Given the description of an element on the screen output the (x, y) to click on. 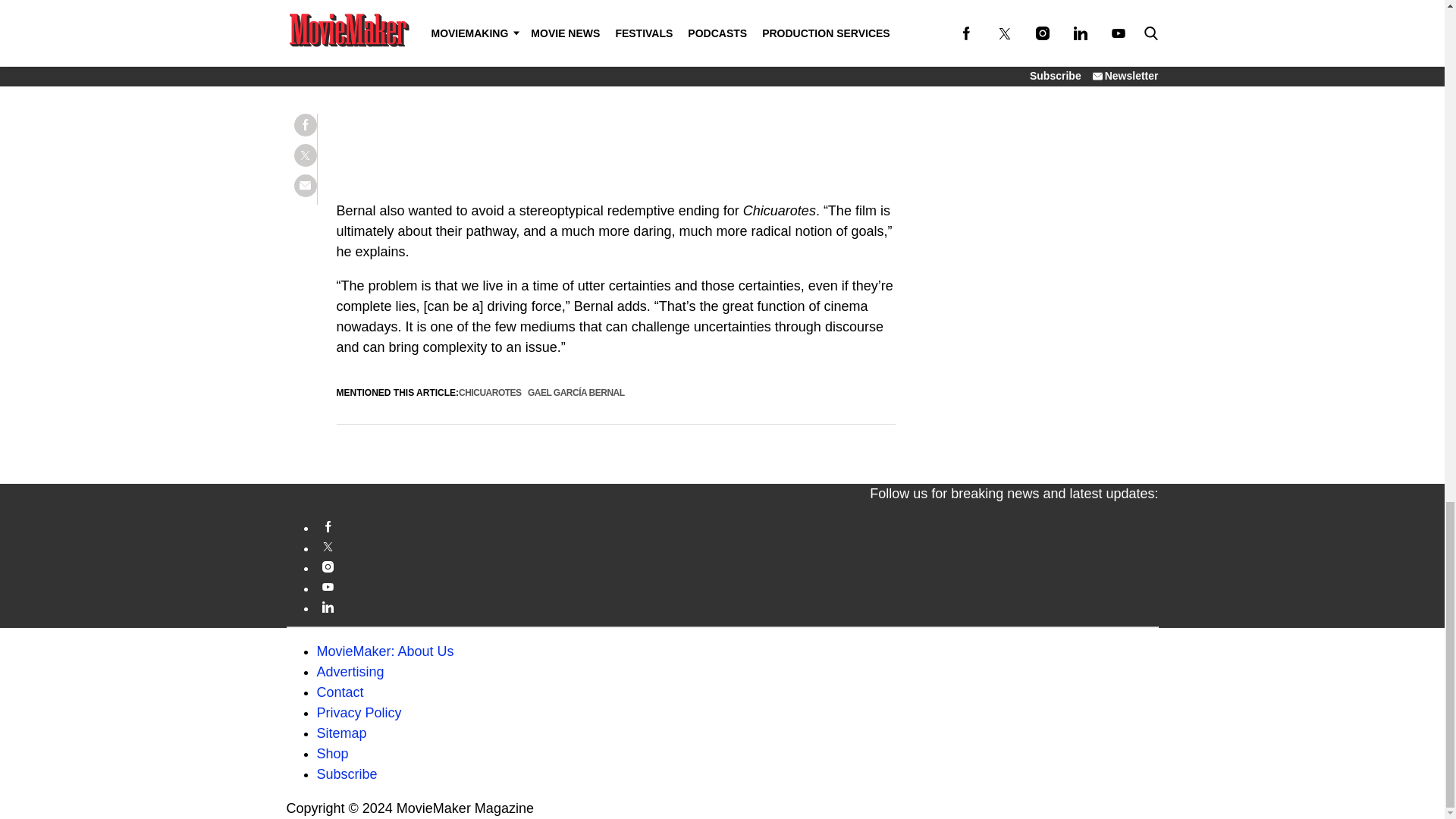
CHICUAROTES (489, 392)
Advertising (350, 671)
MovieMaker Magazine Shop (333, 753)
Subscribe to our YouTube channel (737, 586)
Follow us on Twitter (737, 546)
MovieMaker: About Us (385, 651)
Connect with us on LinkedIn (737, 606)
Follow us on Instagram (737, 566)
MovieMaker Magazine Privacy Policy (359, 712)
Follow us on Facebook (737, 526)
Contact MovieMaker Magazine (340, 692)
